Given the description of an element on the screen output the (x, y) to click on. 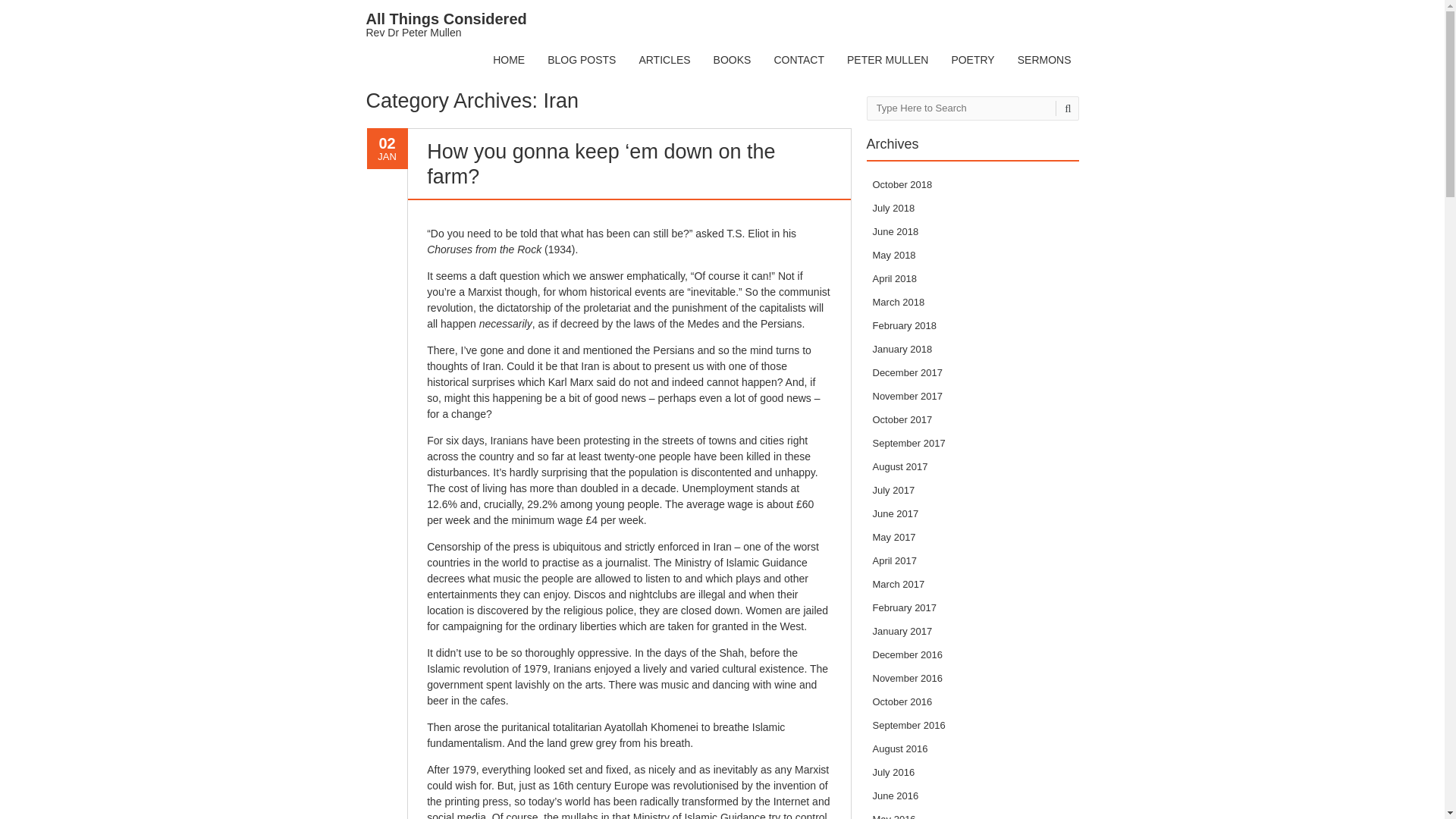
Rev Dr Peter Mullen (445, 25)
POETRY (972, 59)
BLOG POSTS (581, 59)
PETER MULLEN (888, 59)
CONTACT (798, 59)
HOME (508, 59)
SERMONS (445, 25)
ARTICLES (1044, 59)
BOOKS (663, 59)
